Given the description of an element on the screen output the (x, y) to click on. 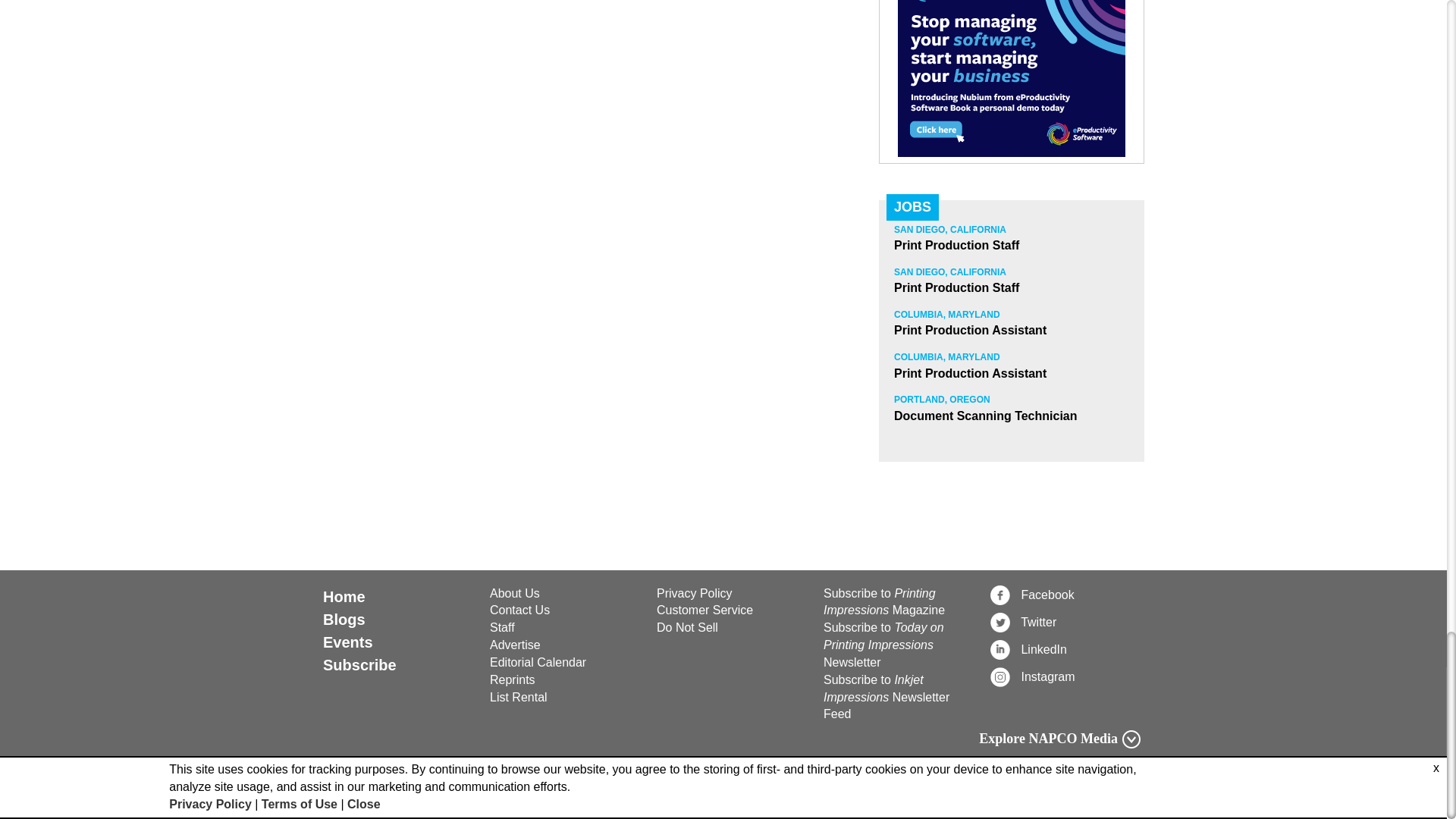
3rd party ad content (1011, 78)
Opens in a new window (731, 610)
Opens in a new window (731, 593)
